Given the description of an element on the screen output the (x, y) to click on. 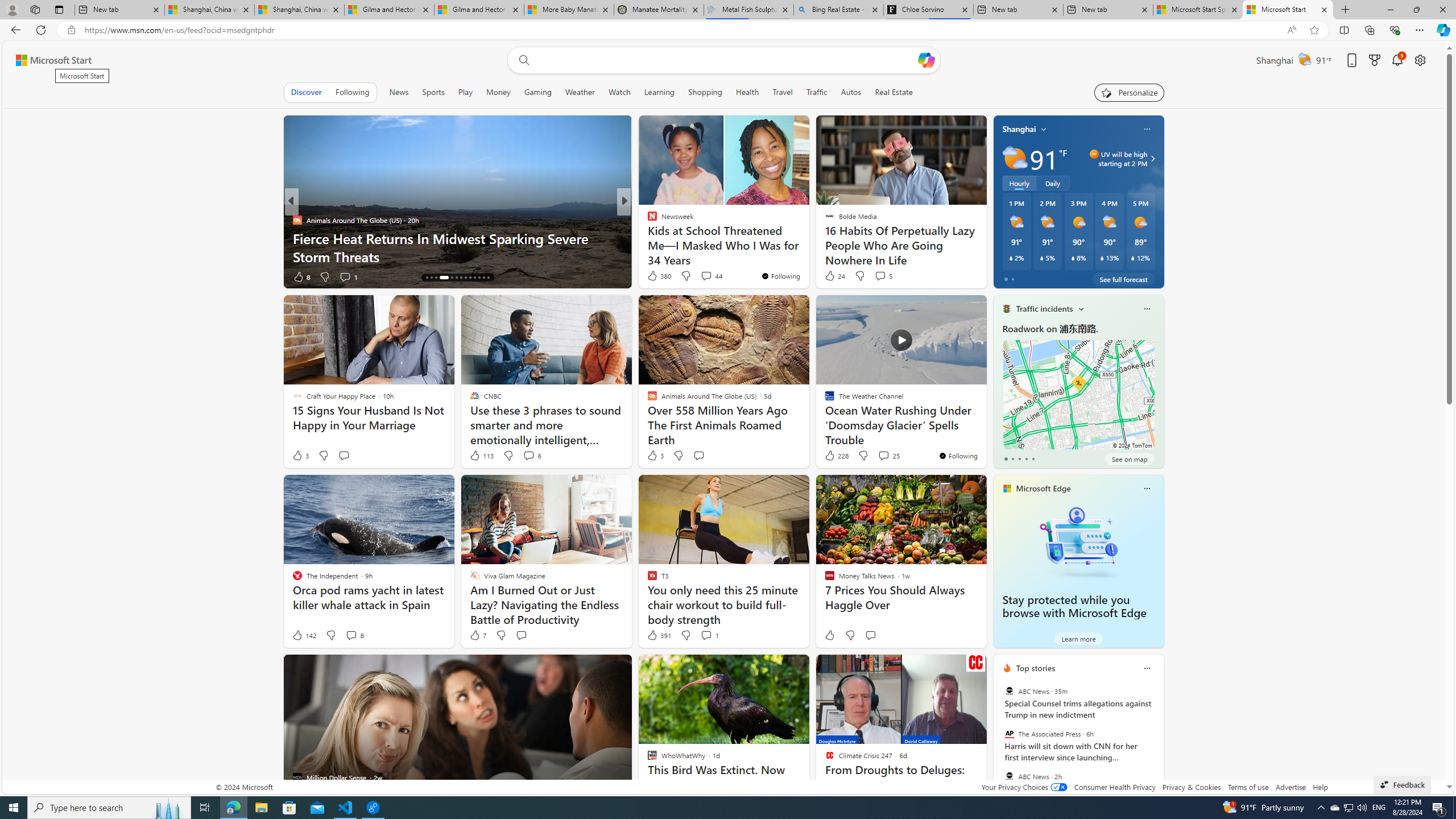
View comments 3 Comment (703, 276)
Animals Around The Globe (US) (296, 219)
View comments 1 Comment (709, 634)
84 Like (652, 276)
View comments 5 Comment (882, 275)
View comments 16 Comment (698, 276)
View comments 44 Comment (710, 275)
29 Like (652, 276)
Hourly (1018, 183)
View comments 196 Comment (709, 276)
